Given the description of an element on the screen output the (x, y) to click on. 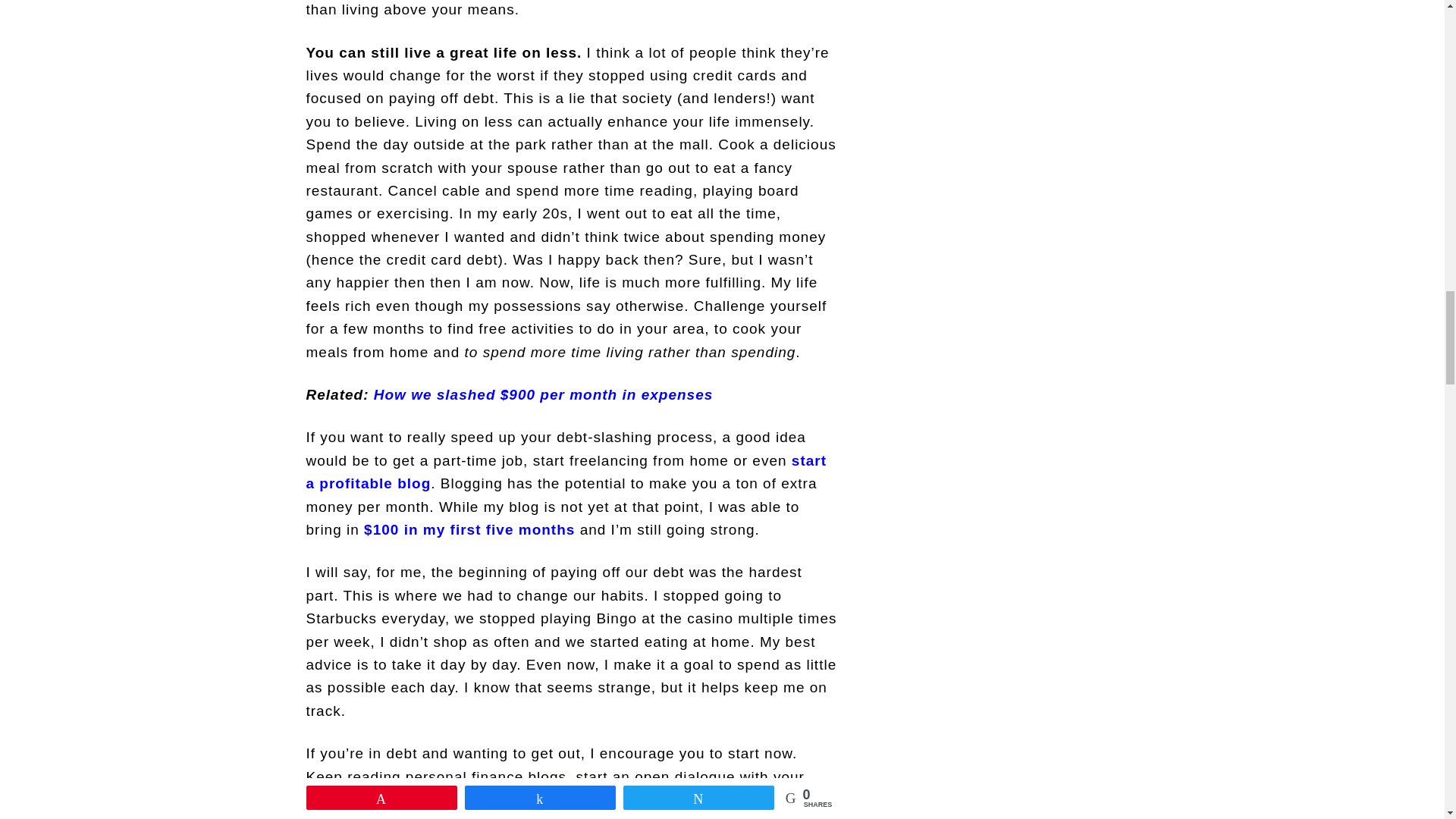
start a profitable blog (566, 471)
